Given the description of an element on the screen output the (x, y) to click on. 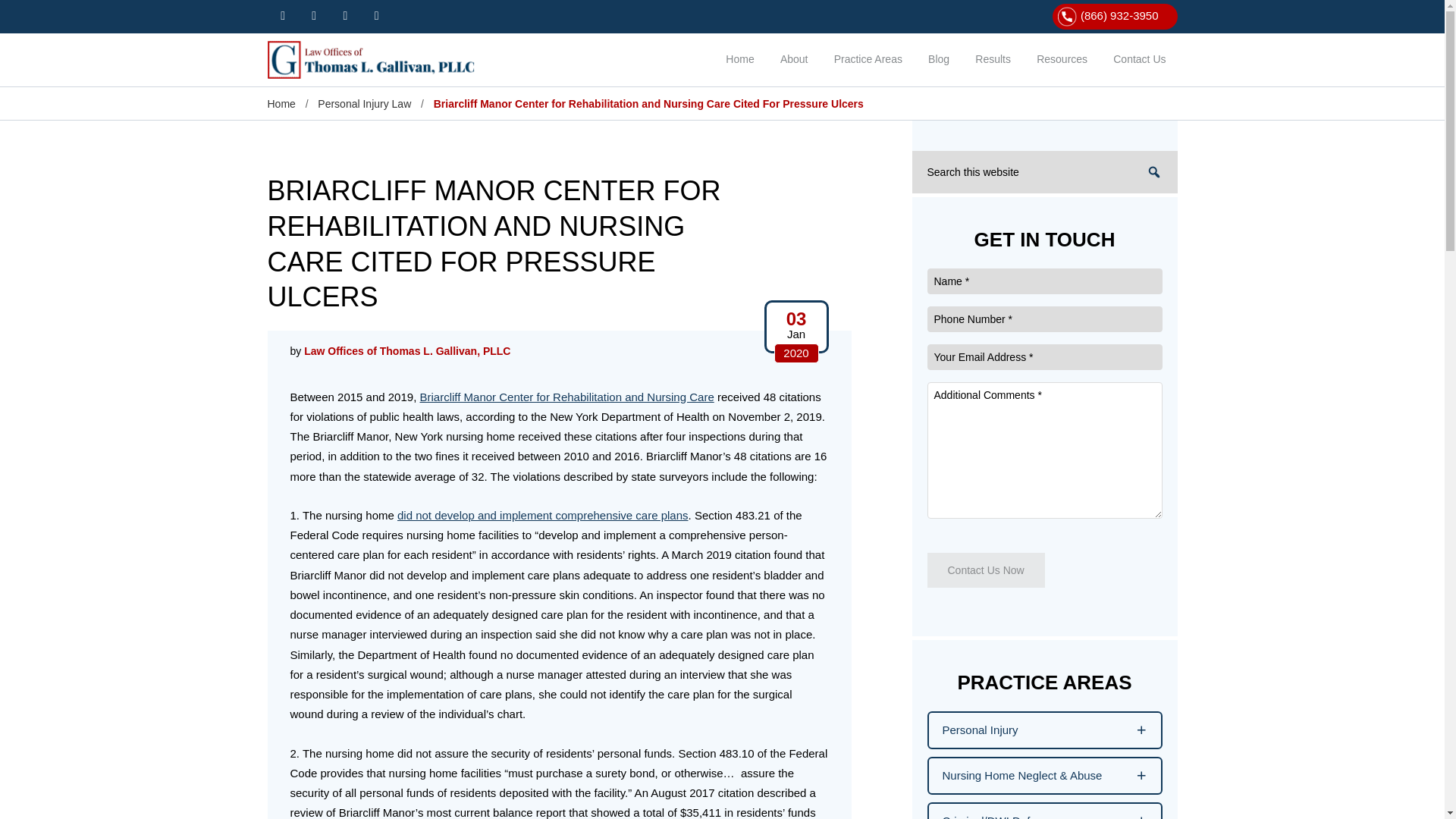
Facebook alt (282, 15)
Youtube (345, 15)
Linkedin (376, 15)
Practice Areas (867, 60)
Contact Us Now (984, 570)
Twitter (314, 15)
LAW OFFICES OF THOMAS L. GALLIVAN, PLLC (376, 59)
